Given the description of an element on the screen output the (x, y) to click on. 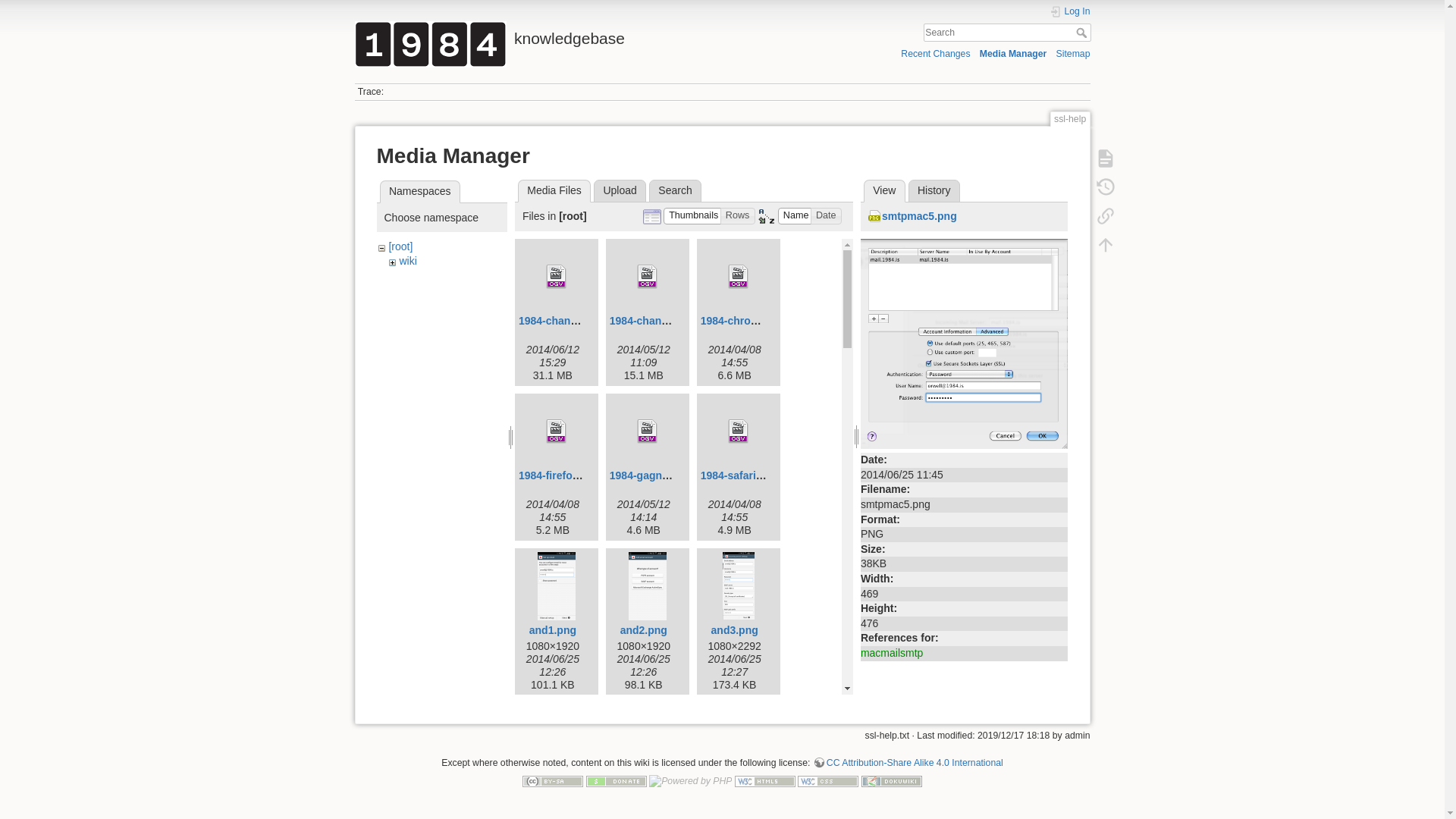
1984-change-email-passw-controlpanel.ogv Element type: hover (556, 276)
Search Element type: text (1082, 32)
and6.png Element type: text (734, 784)
Powered by PHP Element type: hover (690, 780)
Back to top [t] Element type: hover (1104, 244)
1984-safari.ogv Element type: text (739, 475)
1984-change-email-passw-controlpanel.ogv Element type: text (628, 320)
macmailsmtp Element type: text (891, 652)
knowledgebase Element type: text (534, 34)
and3.png Element type: text (734, 630)
[root] Element type: text (400, 246)
1984-safari.ogv Element type: hover (738, 431)
Media Manager Element type: text (1013, 53)
1984-gagnagrunnur-afrit-lowres.ogv Element type: text (700, 475)
Old revisions [o] Element type: hover (1104, 186)
Sitemap Element type: text (1073, 53)
History Element type: text (934, 190)
1984-gagnagrunnur-afrit-lowres.ogv Element type: hover (647, 431)
and2.png Element type: text (643, 630)
and1.png Element type: text (552, 630)
View original file Element type: hover (964, 342)
CC Attribution-Share Alike 4.0 International Element type: text (907, 762)
[F] Element type: hover (1007, 32)
Show page [v] Element type: hover (1104, 158)
1984-chrome.ogv Element type: text (743, 320)
1984-change-email-passw.ogv Element type: text (685, 320)
1984-firefox.ogv Element type: hover (556, 431)
1984-change-email-passw.ogv Element type: hover (647, 276)
Valid CSS Element type: hover (827, 780)
Donate Element type: hover (616, 780)
wiki Element type: text (407, 260)
Valid HTML5 Element type: hover (764, 780)
Backlinks Element type: hover (1104, 215)
smtpmac5.png Element type: text (912, 216)
1984-firefox.ogv Element type: text (558, 475)
and5.png Element type: text (643, 784)
Search Element type: text (675, 190)
Log In Element type: text (1069, 11)
Recent Changes Element type: text (934, 53)
Upload Element type: text (619, 190)
Driven by DokuWiki Element type: hover (891, 780)
and4.png Element type: text (552, 784)
1984-chrome.ogv Element type: hover (738, 276)
